Given the description of an element on the screen output the (x, y) to click on. 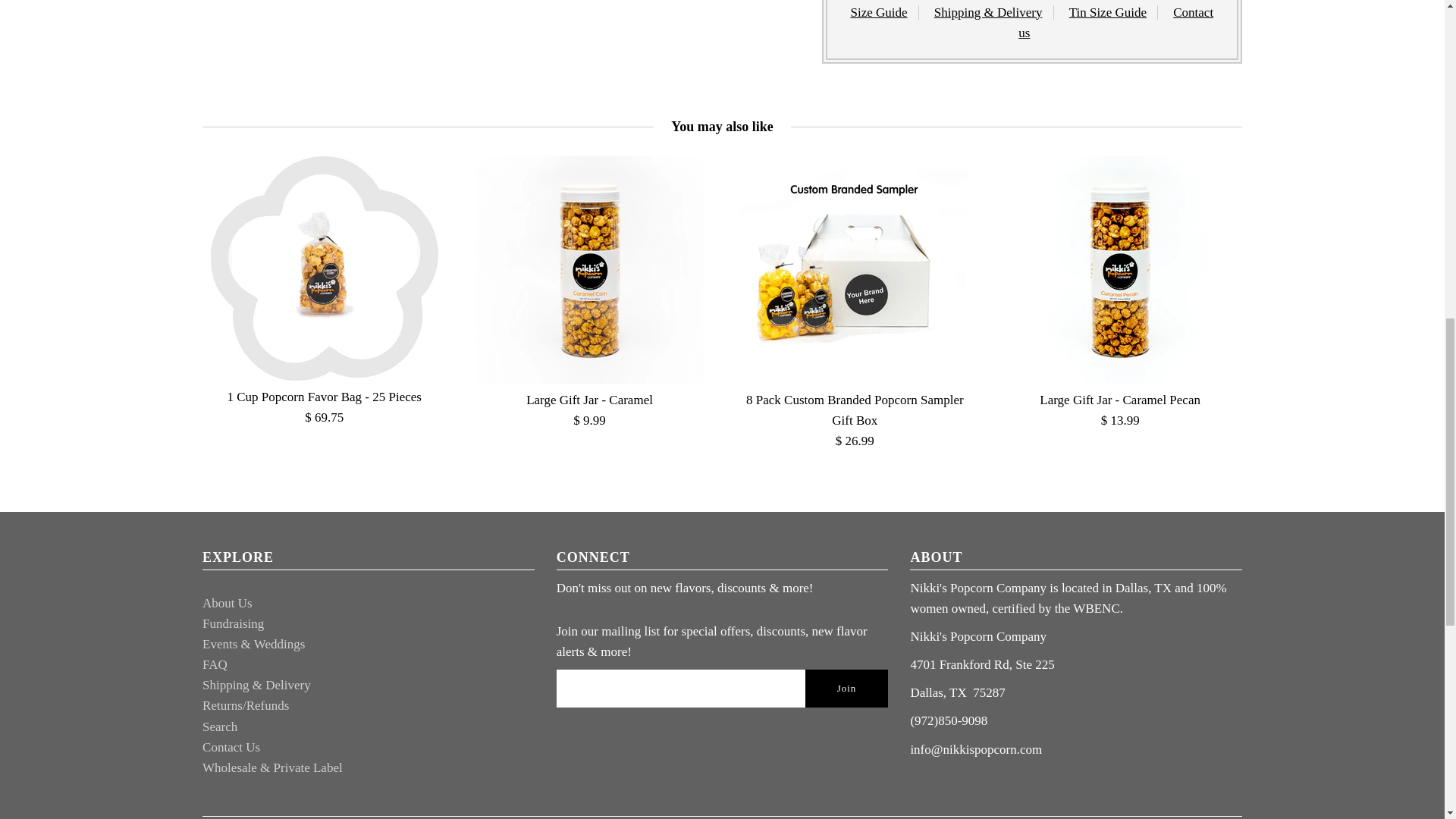
Join (846, 688)
